Given the description of an element on the screen output the (x, y) to click on. 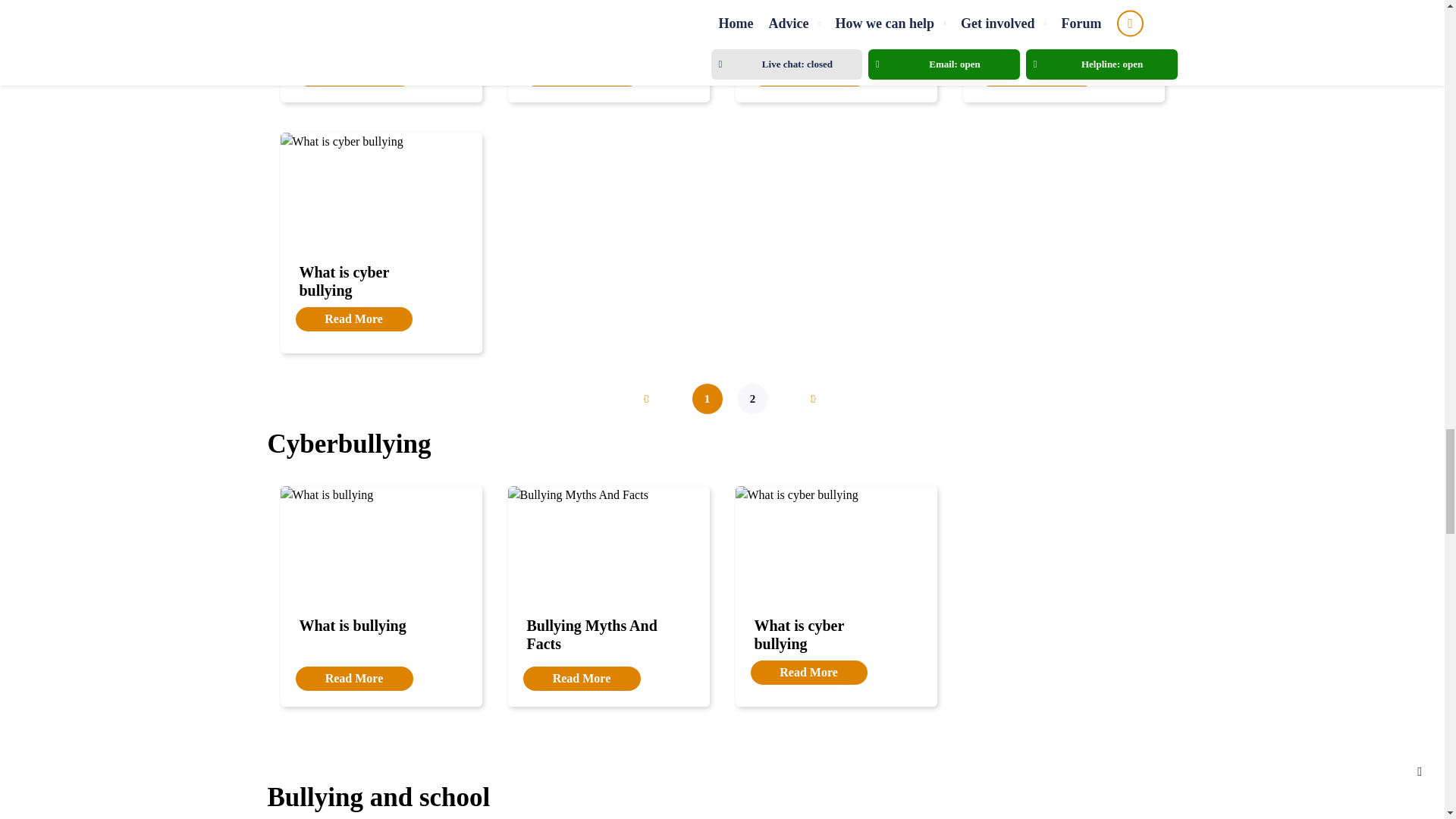
Read More: Bullying in sports clubs (1037, 74)
Read More: Social Bullying (574, 21)
Read More: Bullying Myths And Facts (818, 30)
Read More: Bullying in sports clubs (1038, 30)
Read More: Bullying Myths And Facts (809, 74)
Read More: What is bullying (352, 21)
Read More: Social Bullying (581, 74)
Read More: What is bullying (354, 74)
